Given the description of an element on the screen output the (x, y) to click on. 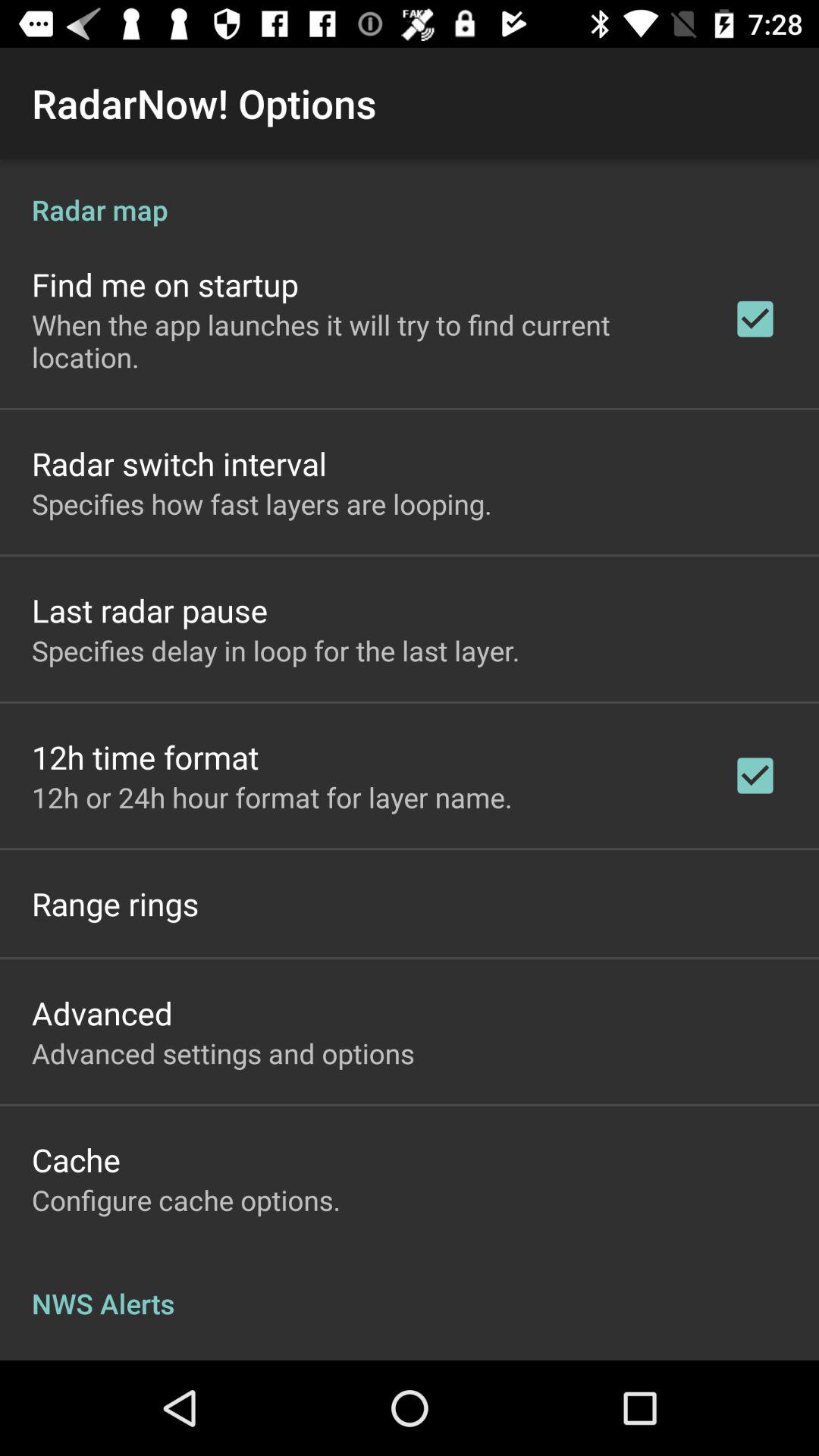
click on the 1st tick mark (755, 318)
